Given the description of an element on the screen output the (x, y) to click on. 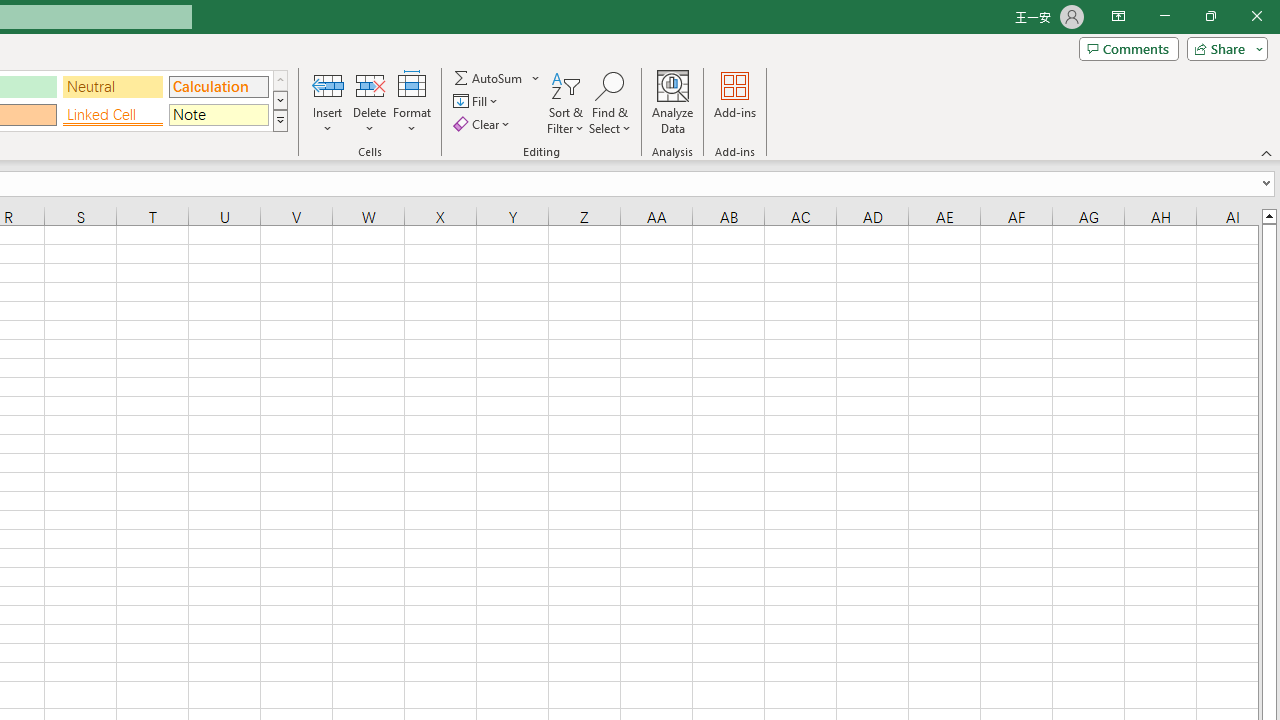
Fill (477, 101)
